Given the description of an element on the screen output the (x, y) to click on. 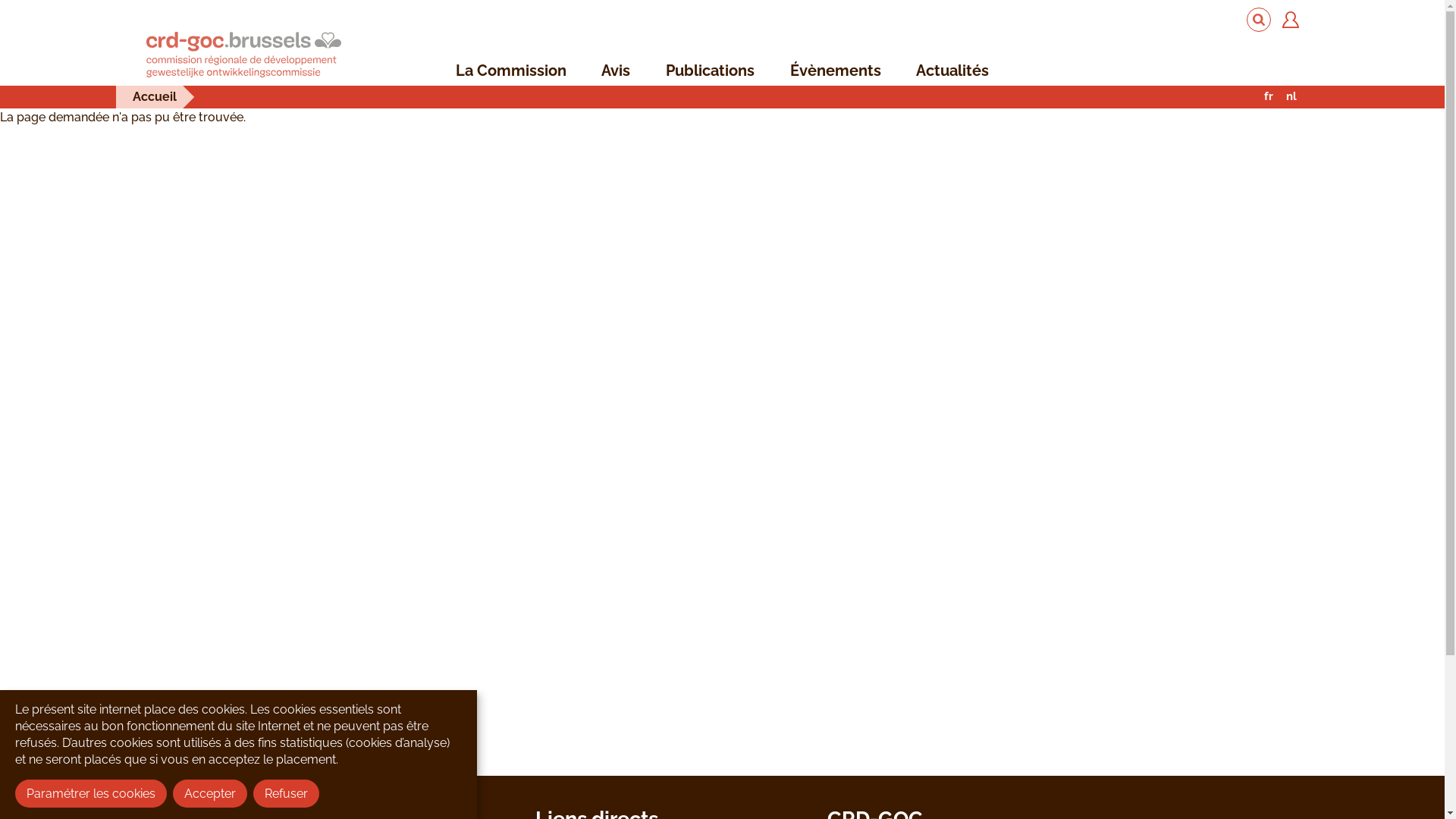
Rechercher Element type: text (1258, 19)
Accepter Element type: text (209, 793)
Se connecter Element type: hover (1289, 19)
La Commission Element type: text (510, 70)
Avis Element type: text (615, 70)
Accueil Element type: hover (243, 56)
Refuser Element type: text (286, 793)
fr Element type: text (1267, 96)
Accueil Element type: text (153, 96)
Publications Element type: text (709, 70)
nl Element type: text (1290, 96)
